Given the description of an element on the screen output the (x, y) to click on. 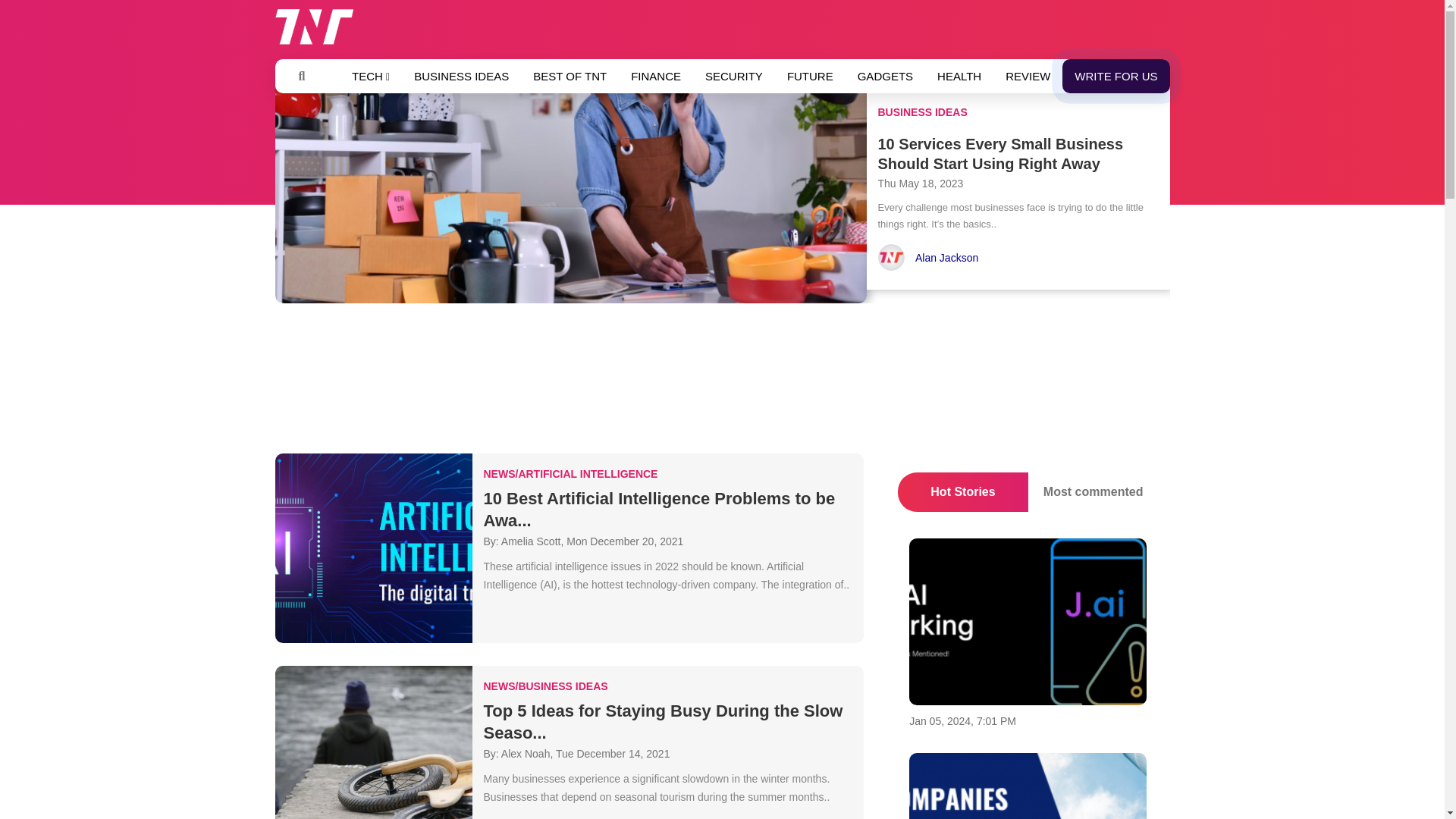
Advertisement (721, 382)
TECH (370, 75)
